Given the description of an element on the screen output the (x, y) to click on. 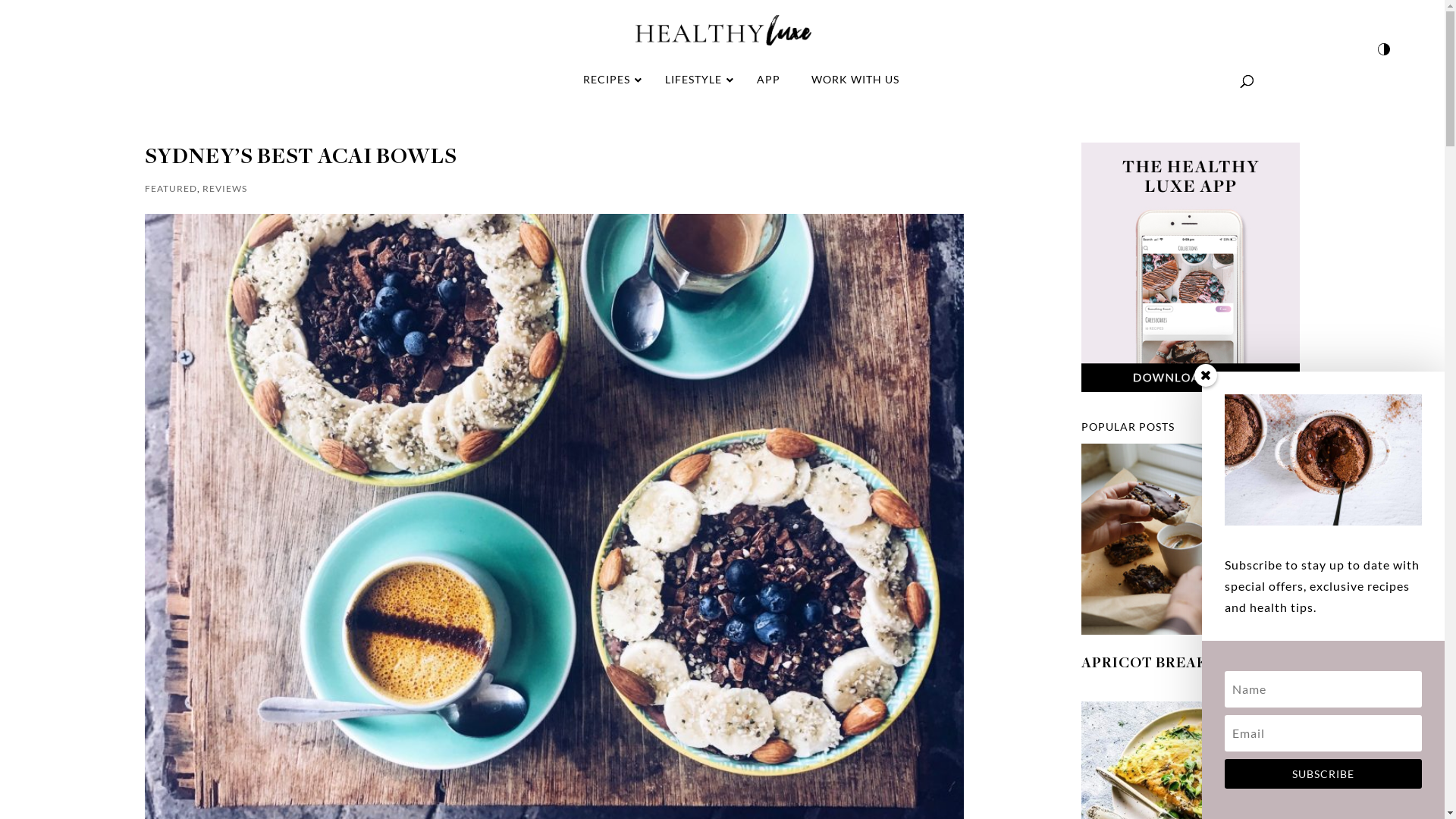
APP Element type: text (767, 79)
APRICOT BREAKFAST BARS Element type: text (1185, 663)
WORK WITH US Element type: text (854, 79)
RECIPES Element type: text (608, 79)
REVIEWS Element type: text (223, 188)
SUBSCRIBE Element type: text (1322, 773)
FEATURED Element type: text (170, 188)
LIFESTYLE Element type: text (694, 79)
